Given the description of an element on the screen output the (x, y) to click on. 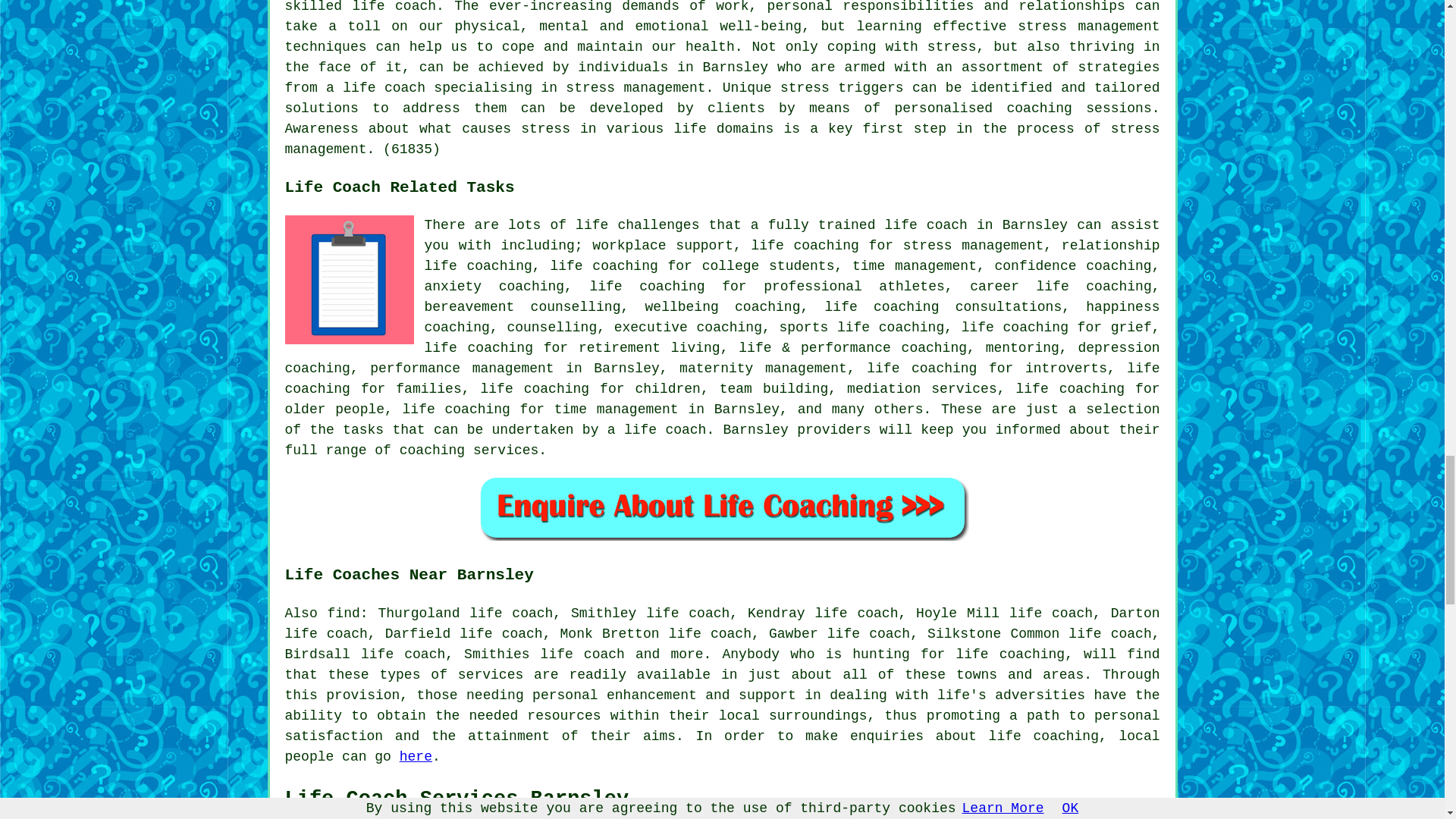
confidence coaching (1072, 265)
life coaching (1009, 654)
life coach (926, 224)
BARNSLEY LIFE COACH ENQUIRIES (722, 507)
life coaching (1043, 735)
Life Coaching Tasks Barnsley (349, 279)
life coach (665, 429)
